Given the description of an element on the screen output the (x, y) to click on. 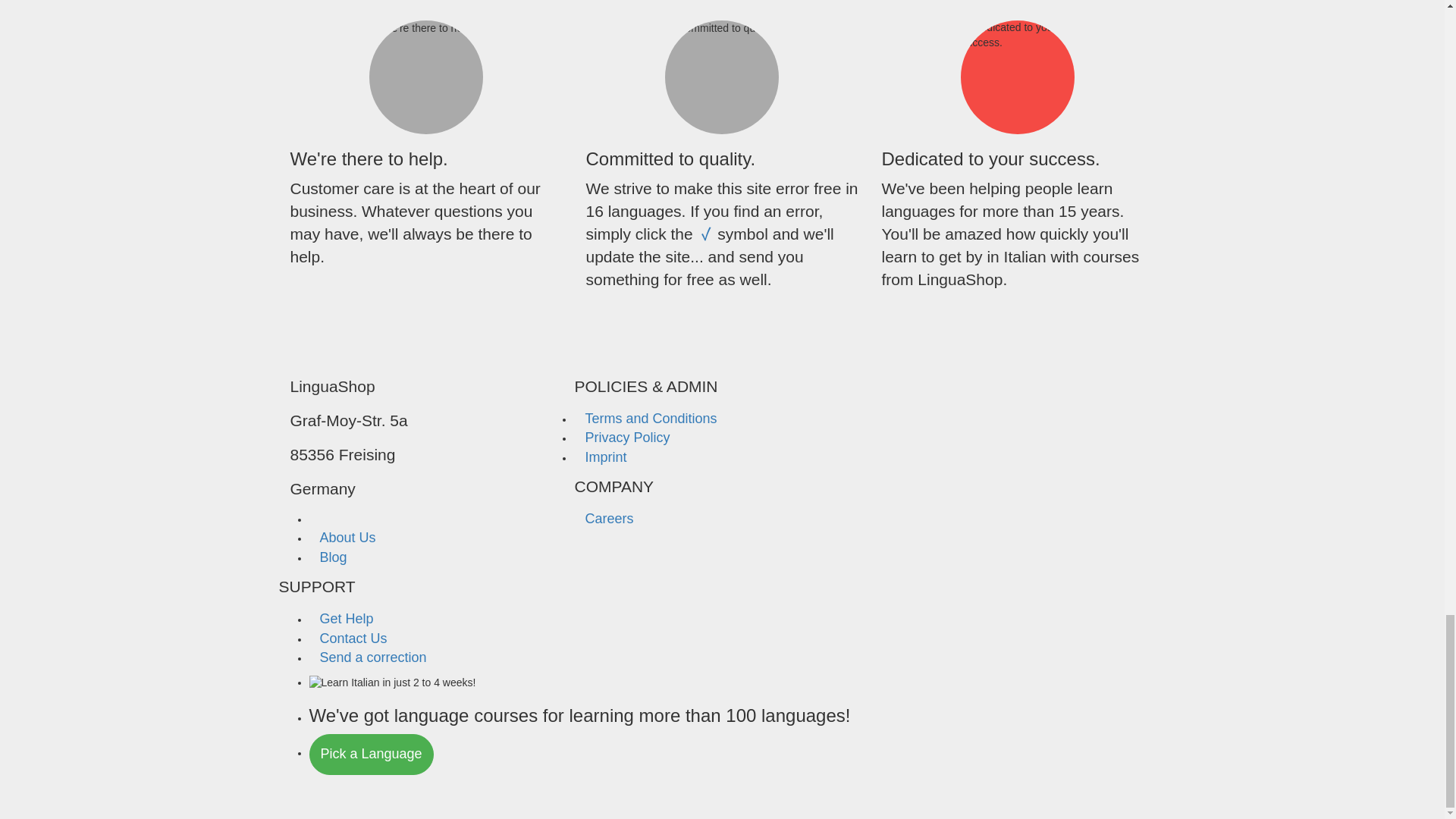
Imprint (605, 456)
About Us (347, 537)
Get Help (346, 618)
Contact Us (352, 637)
Careers (608, 518)
Blog (333, 556)
Terms and Conditions (649, 418)
Pick a Language (370, 753)
Send a correction (373, 657)
Privacy Policy (626, 437)
